Given the description of an element on the screen output the (x, y) to click on. 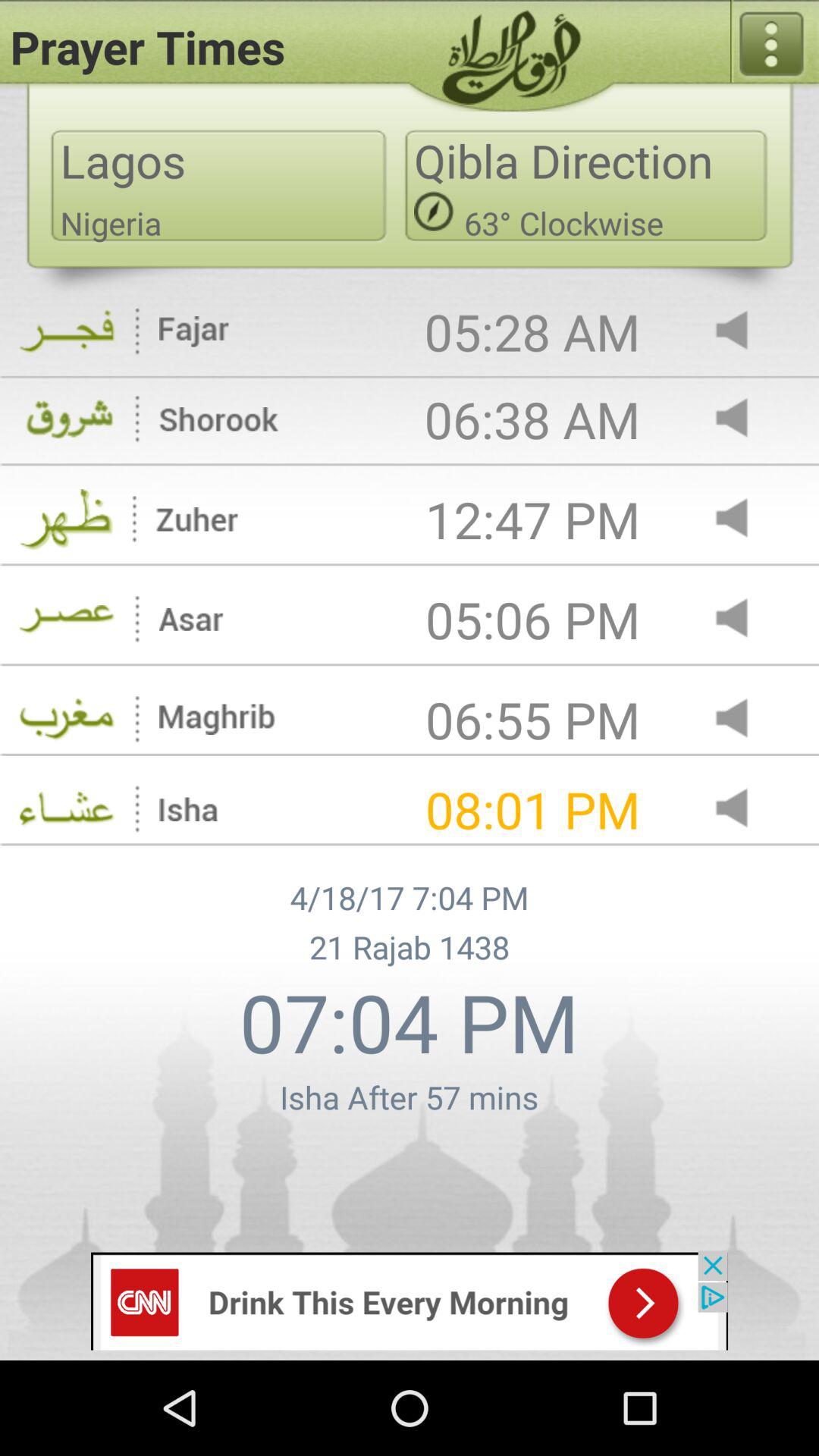
listen to zuher (744, 519)
